Given the description of an element on the screen output the (x, y) to click on. 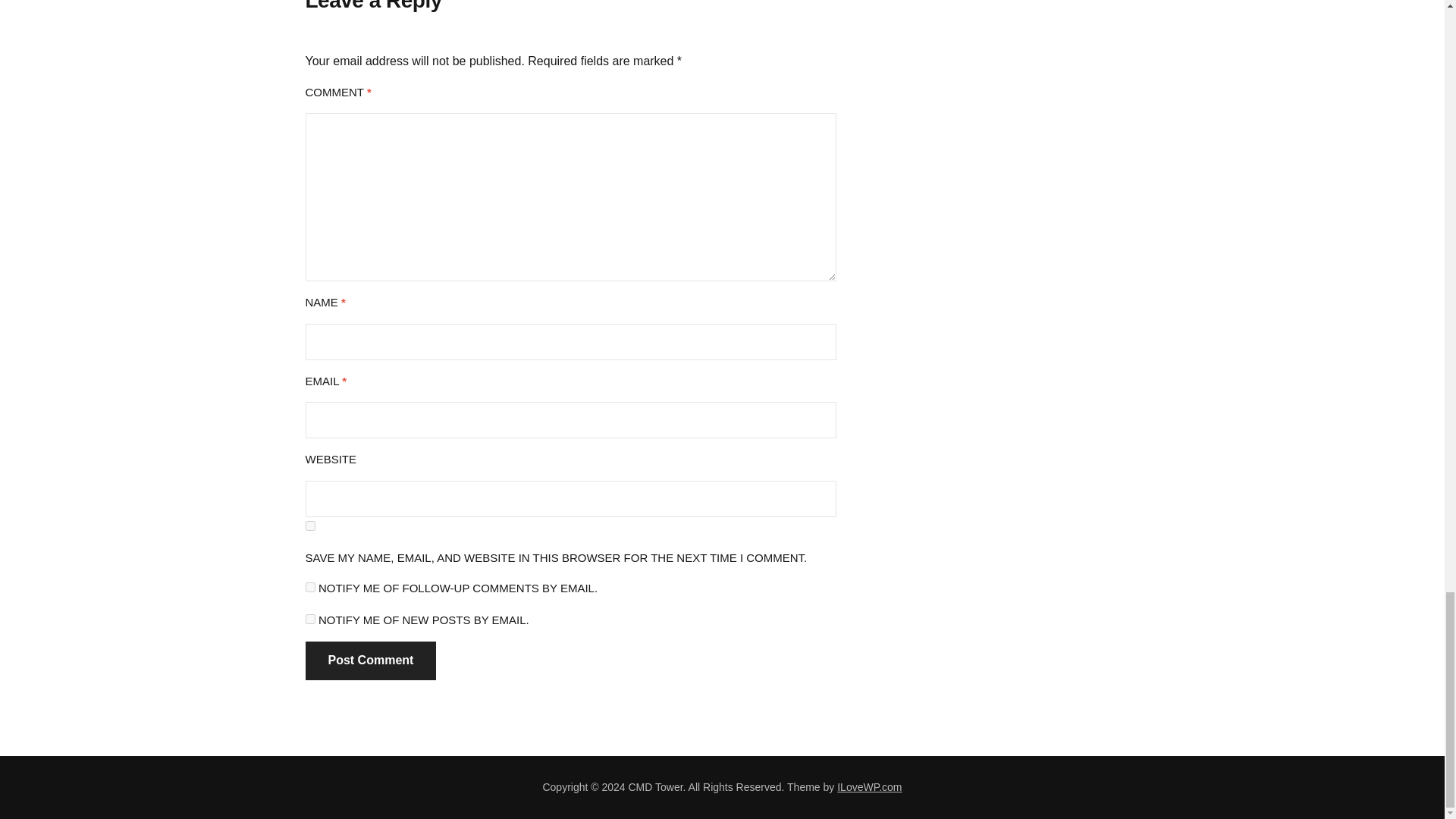
yes (309, 525)
subscribe (309, 587)
Post Comment (369, 660)
Podcast WordPress Themes (869, 787)
subscribe (309, 619)
ILoveWP.com (869, 787)
Post Comment (369, 660)
